Given the description of an element on the screen output the (x, y) to click on. 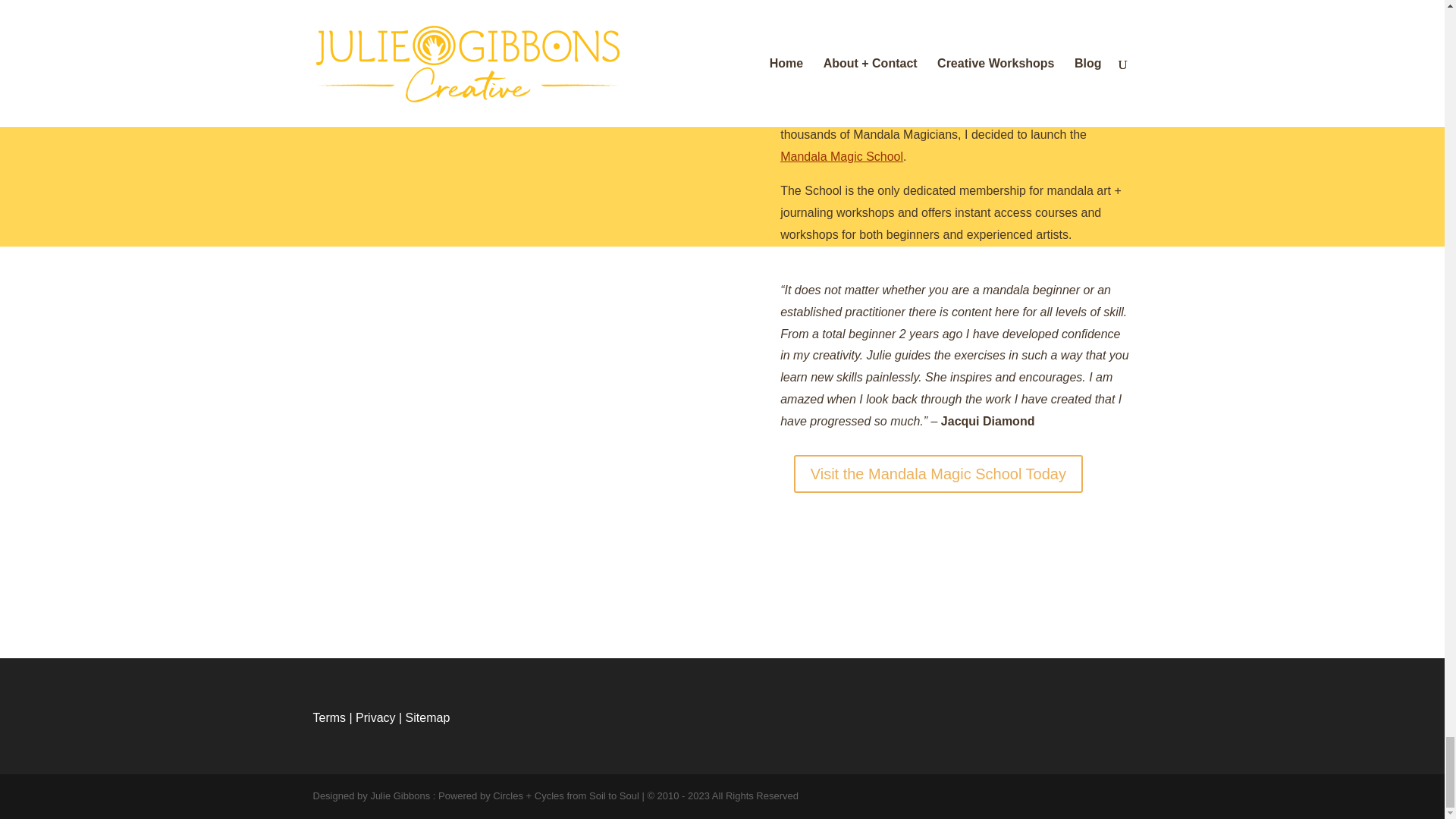
Terms (329, 717)
Sitemap (427, 717)
Visit the Mandala Magic School (915, 82)
Privacy (374, 717)
Visit the Mandala Magic School Today (938, 474)
Mandala Magic School (841, 155)
